Given the description of an element on the screen output the (x, y) to click on. 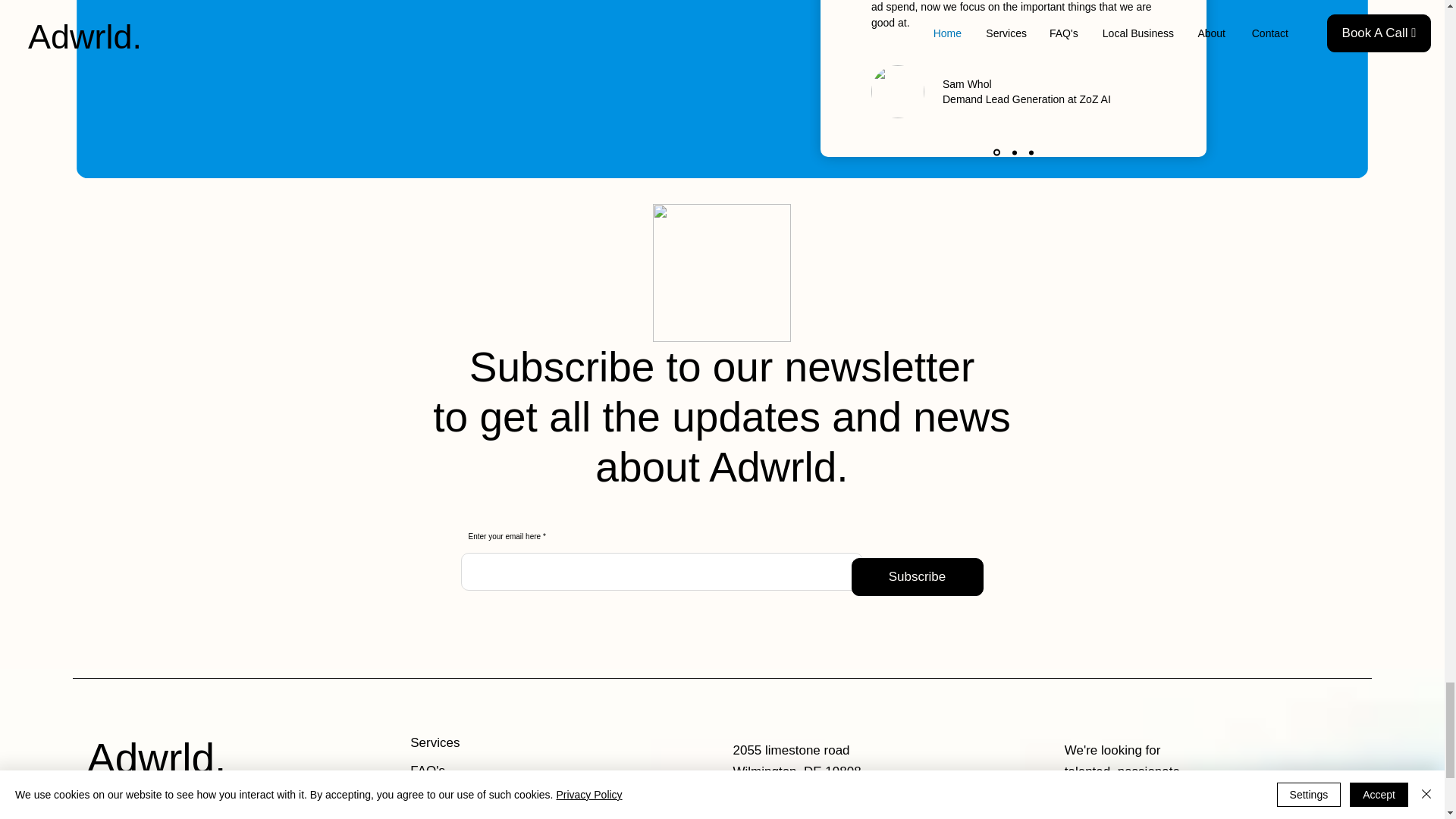
Adwrld. (156, 758)
Contact (464, 817)
About (464, 798)
FAQ's (464, 770)
Services (464, 742)
Subscribe (916, 576)
